Given the description of an element on the screen output the (x, y) to click on. 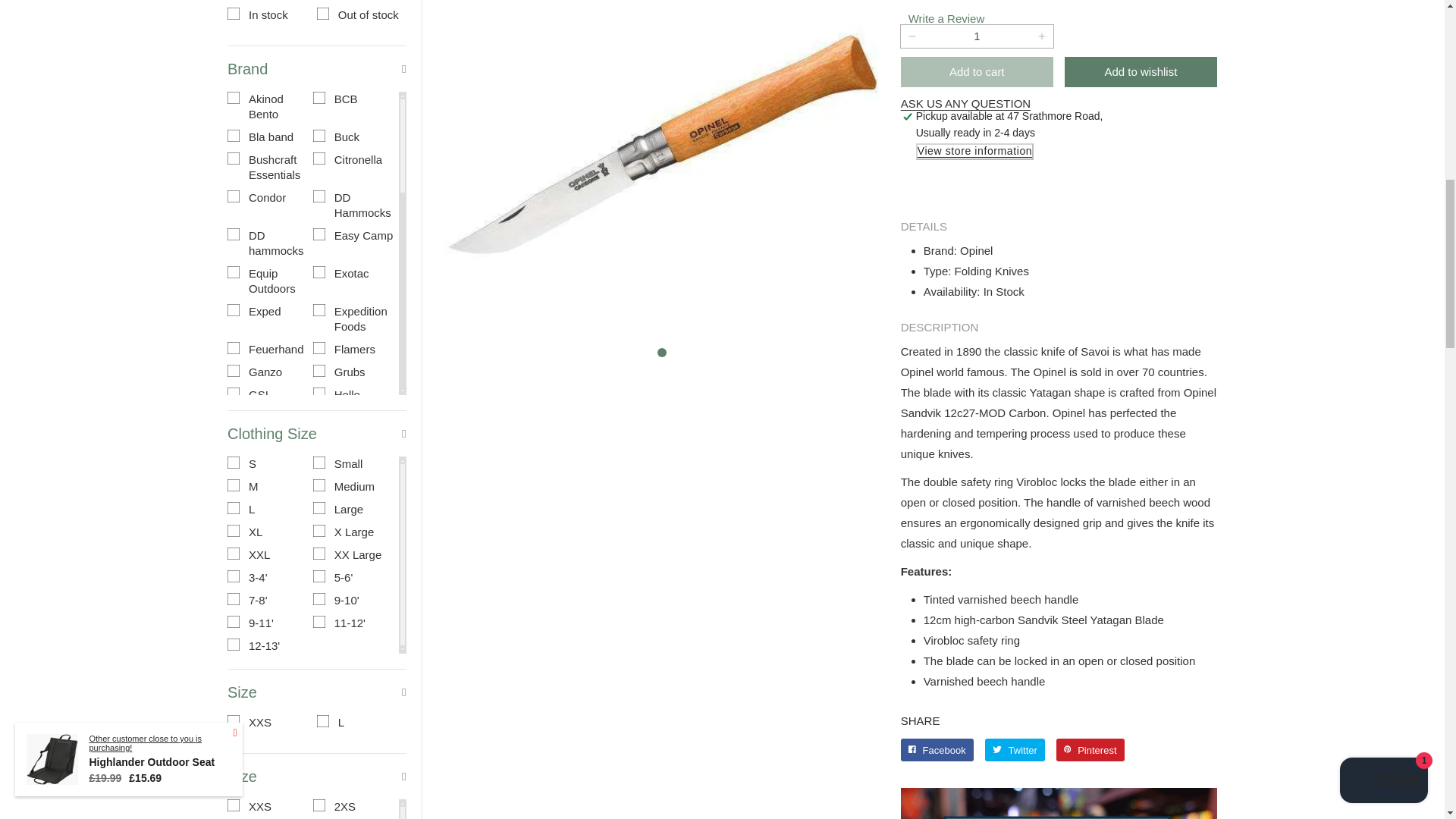
Add to wishlist (1140, 71)
Add to wishlist (1139, 71)
1 (316, 725)
